Given the description of an element on the screen output the (x, y) to click on. 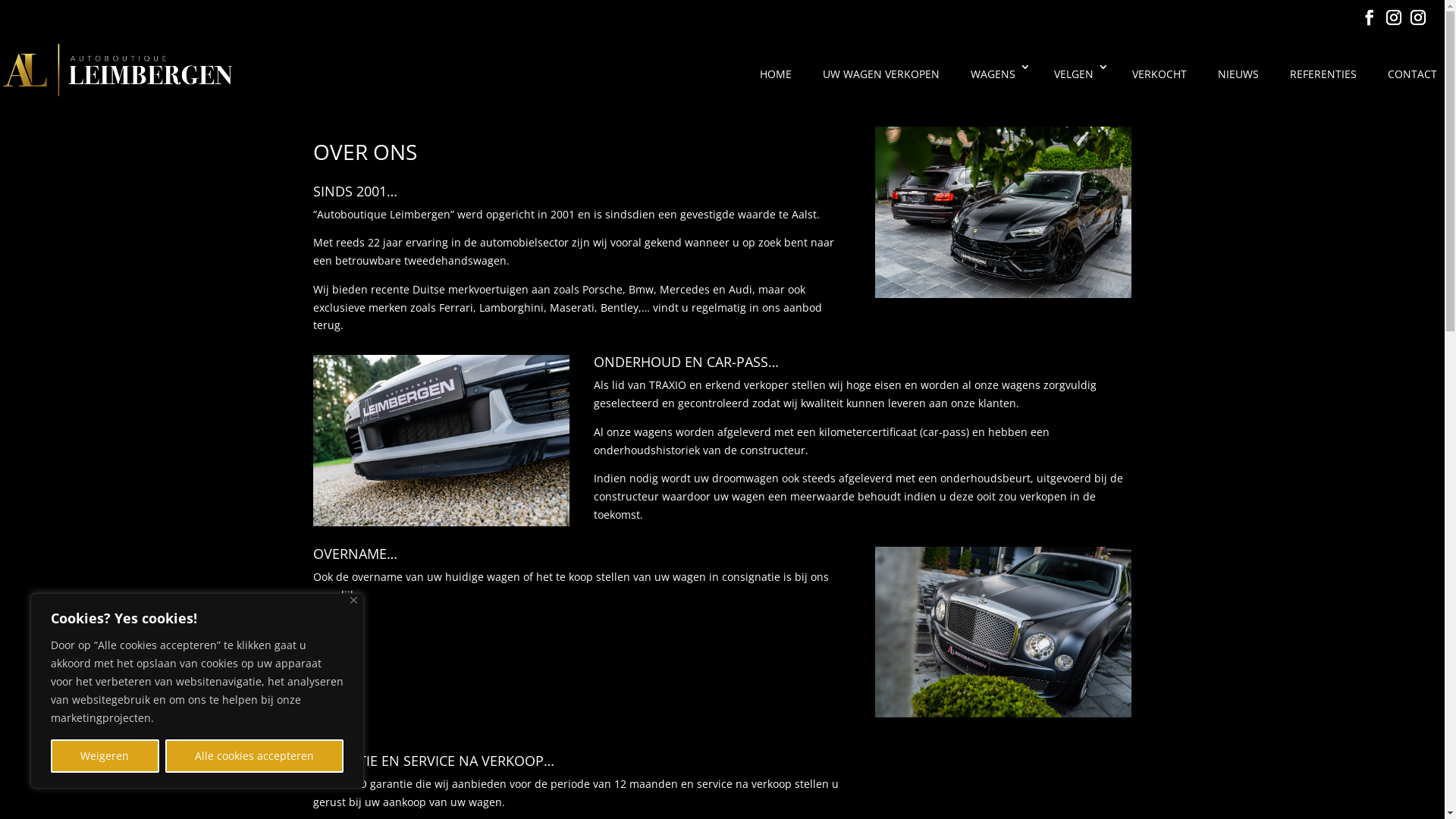
VELGEN Element type: text (1075, 83)
Alle cookies accepteren Element type: text (254, 755)
VERKOCHT Element type: text (1157, 83)
UW WAGEN VERKOPEN Element type: text (879, 83)
WAGENS Element type: text (994, 83)
HOME Element type: text (773, 83)
NIEUWS Element type: text (1236, 83)
Weigeren Element type: text (104, 755)
REFERENTIES Element type: text (1321, 83)
CONTACT Element type: text (1410, 83)
